Given the description of an element on the screen output the (x, y) to click on. 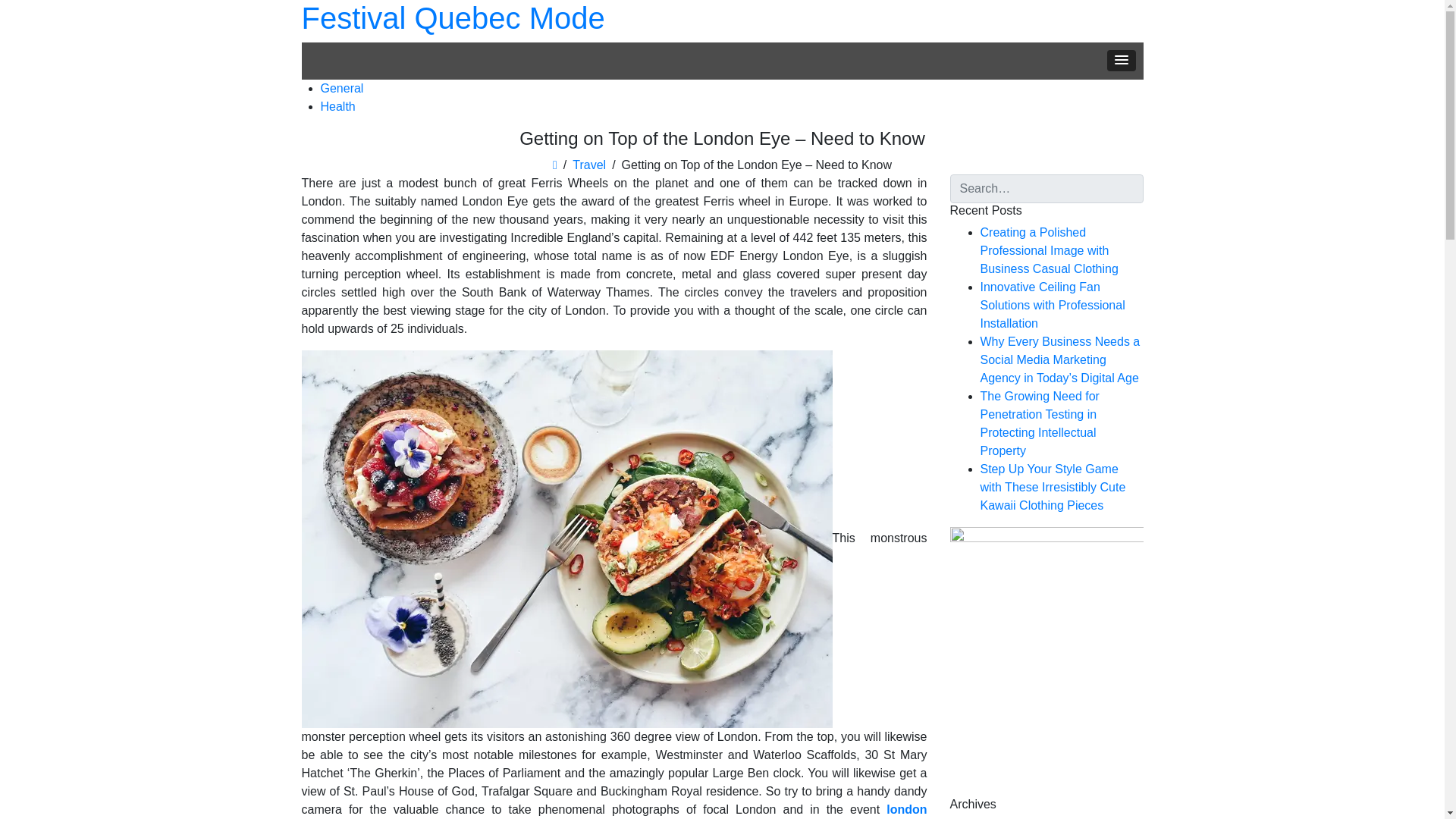
Travel (588, 164)
Health (337, 106)
General (341, 88)
london instagram captions (614, 811)
Festival Quebec Mode (453, 18)
